Given the description of an element on the screen output the (x, y) to click on. 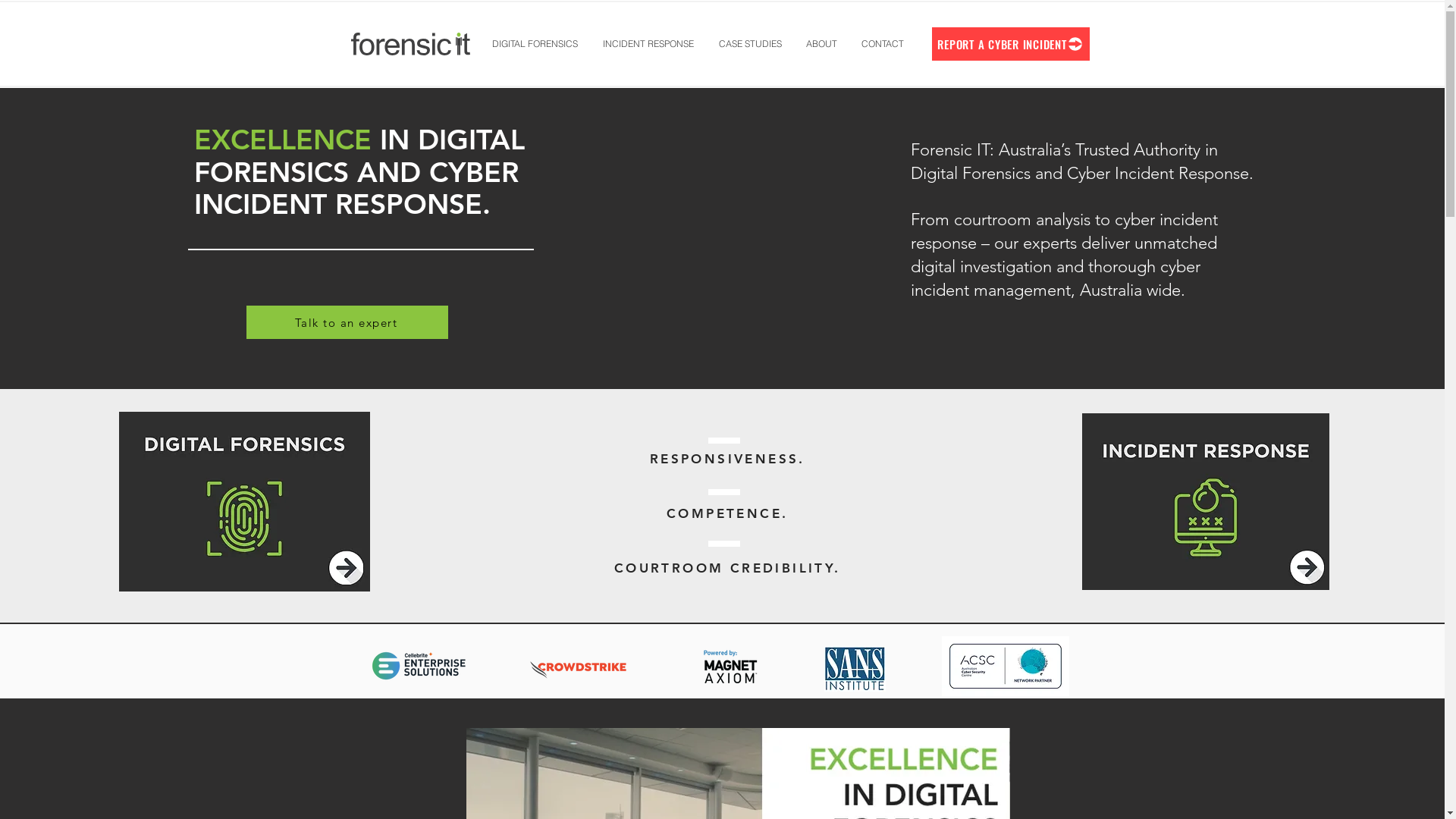
DIGITAL FORENSICS Element type: text (534, 43)
Eye Element type: hover (1205, 501)
Eye Element type: hover (244, 501)
ABOUT Element type: text (820, 43)
CASE STUDIES Element type: text (749, 43)
REPORT A CYBER INCIDENT Element type: text (1009, 43)
Talk to an expert Element type: text (347, 321)
CONTACT Element type: text (882, 43)
INCIDENT RESPONSE Element type: text (647, 43)
